Given the description of an element on the screen output the (x, y) to click on. 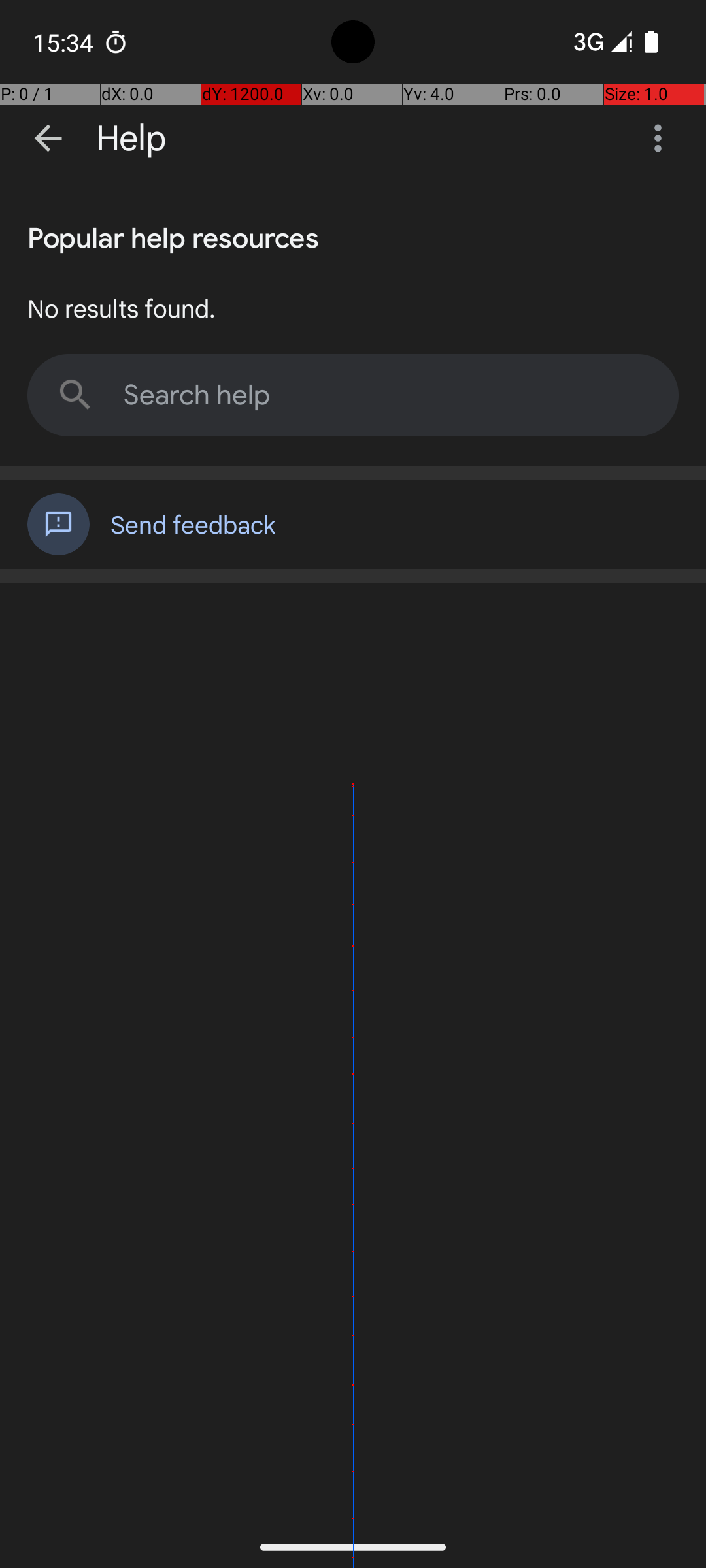
Popular help resources Element type: android.widget.TextView (173, 235)
Search help Element type: androidx.cardview.widget.CardView (352, 395)
No results found. Element type: android.widget.TextView (121, 307)
